Given the description of an element on the screen output the (x, y) to click on. 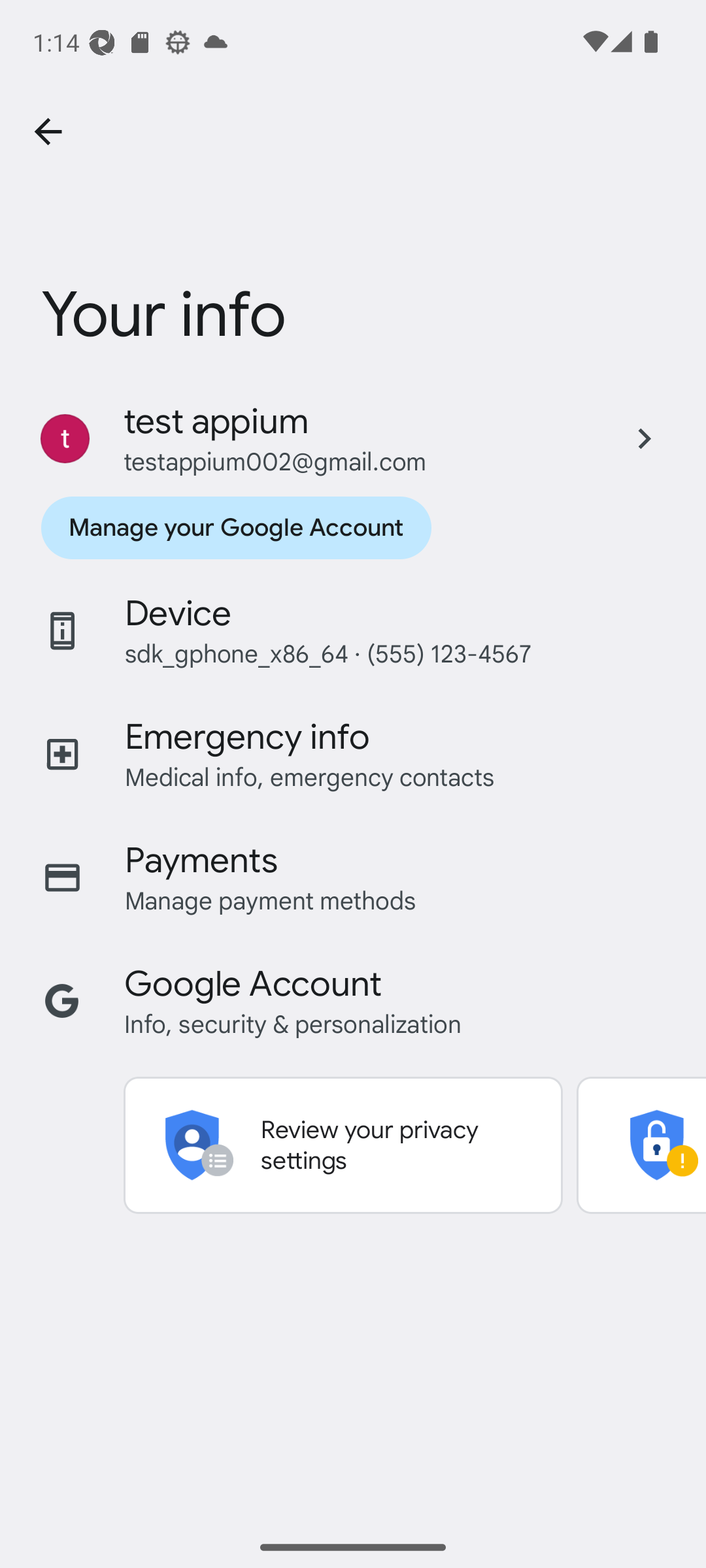
Navigate up (48, 131)
Manage your Google Account (235, 527)
Device sdk_gphone_x86_64 · (555) 123-4567 (353, 631)
Emergency info Medical info, emergency contacts (353, 754)
Payments Manage payment methods (353, 877)
Google Account Info, security & personalization (353, 1001)
Review your privacy settings (342, 1145)
